Given the description of an element on the screen output the (x, y) to click on. 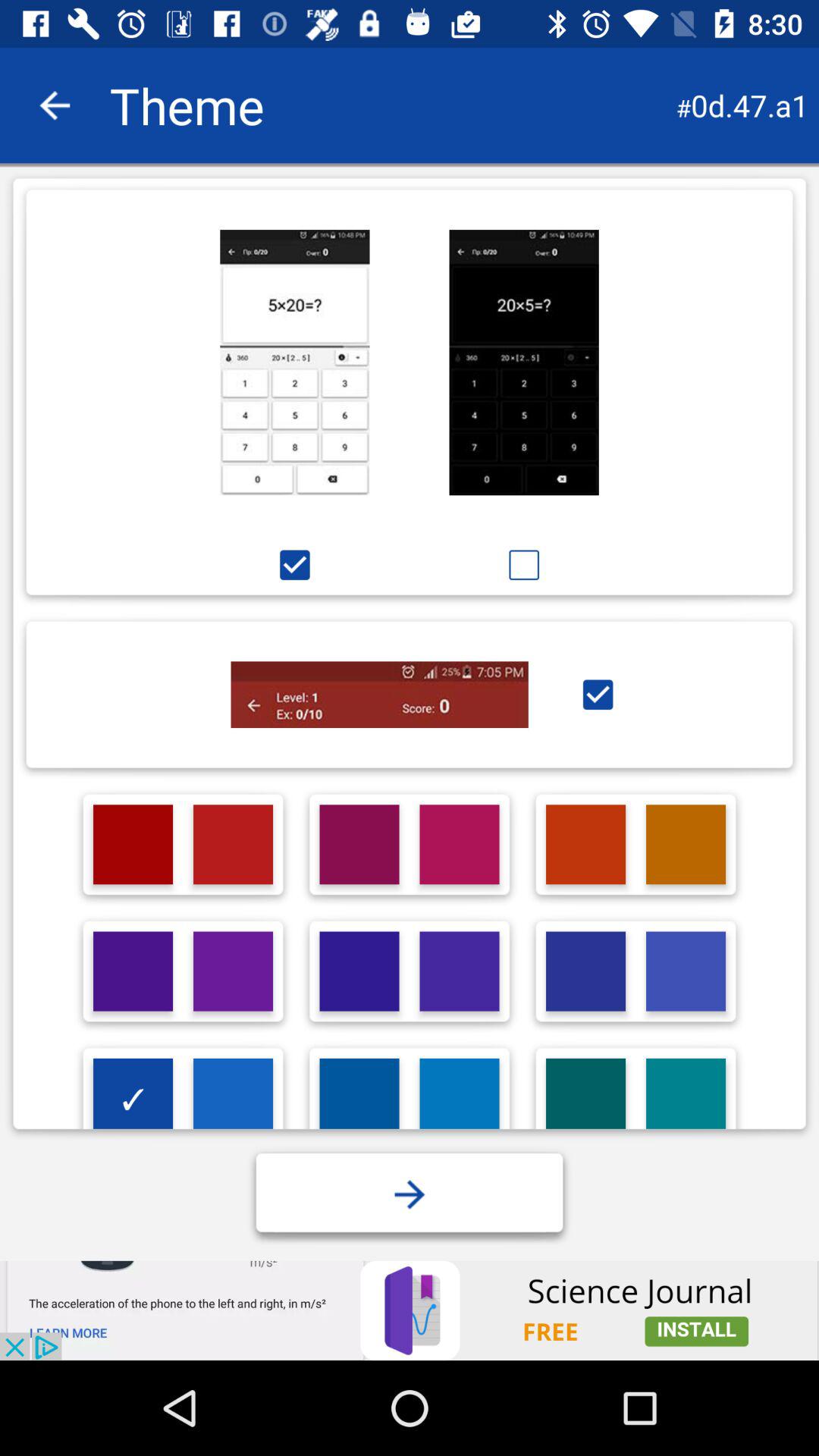
logo (585, 1098)
